Given the description of an element on the screen output the (x, y) to click on. 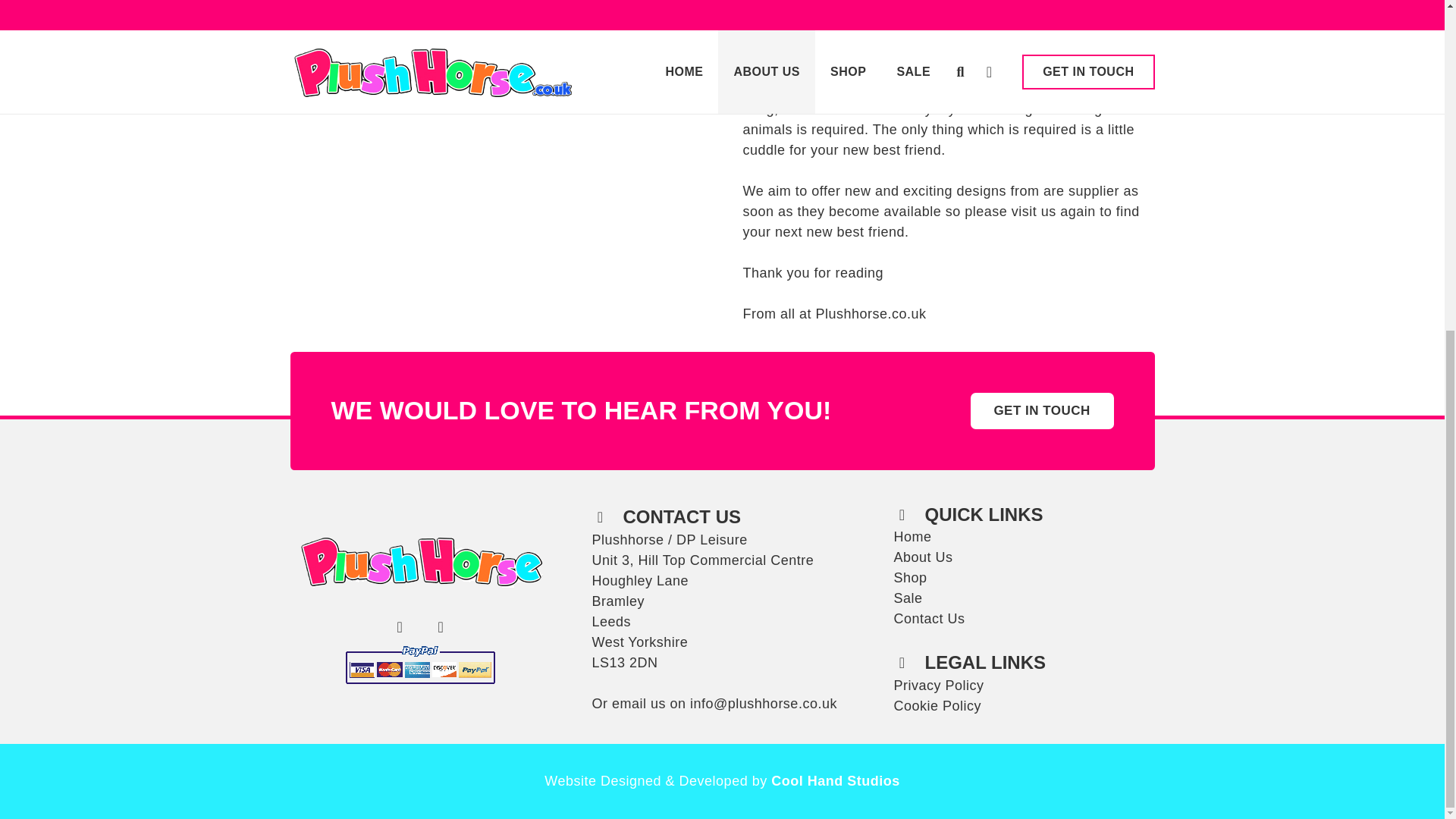
About Us (922, 557)
Cookie Policy (937, 705)
Cool Hand Studios (835, 780)
Privacy Policy (938, 685)
Contact Us (928, 618)
GET IN TOUCH (1042, 411)
Home (912, 536)
Shop (909, 577)
Sale (907, 598)
